Given the description of an element on the screen output the (x, y) to click on. 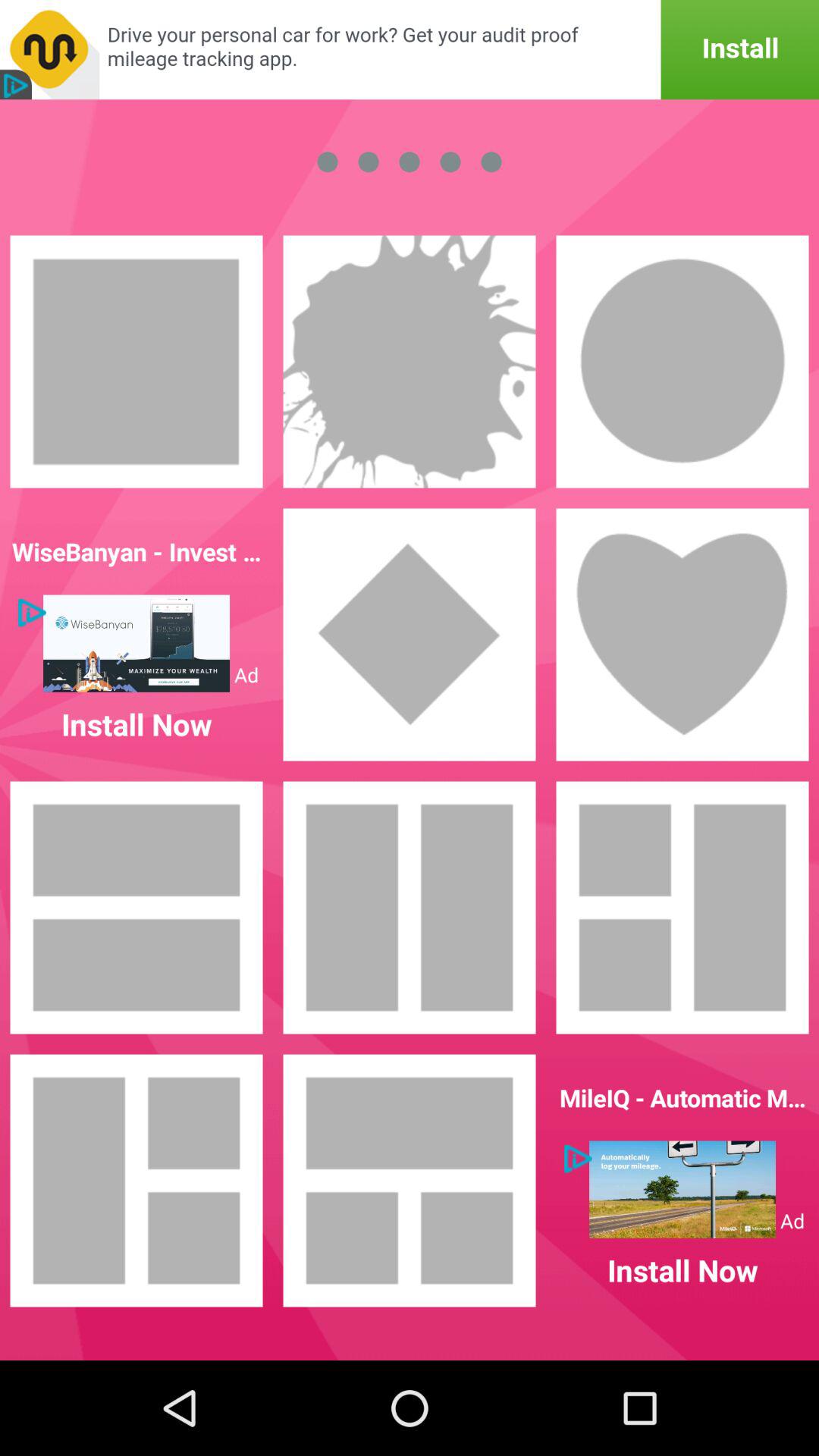
make it diamond shaped (409, 634)
